Given the description of an element on the screen output the (x, y) to click on. 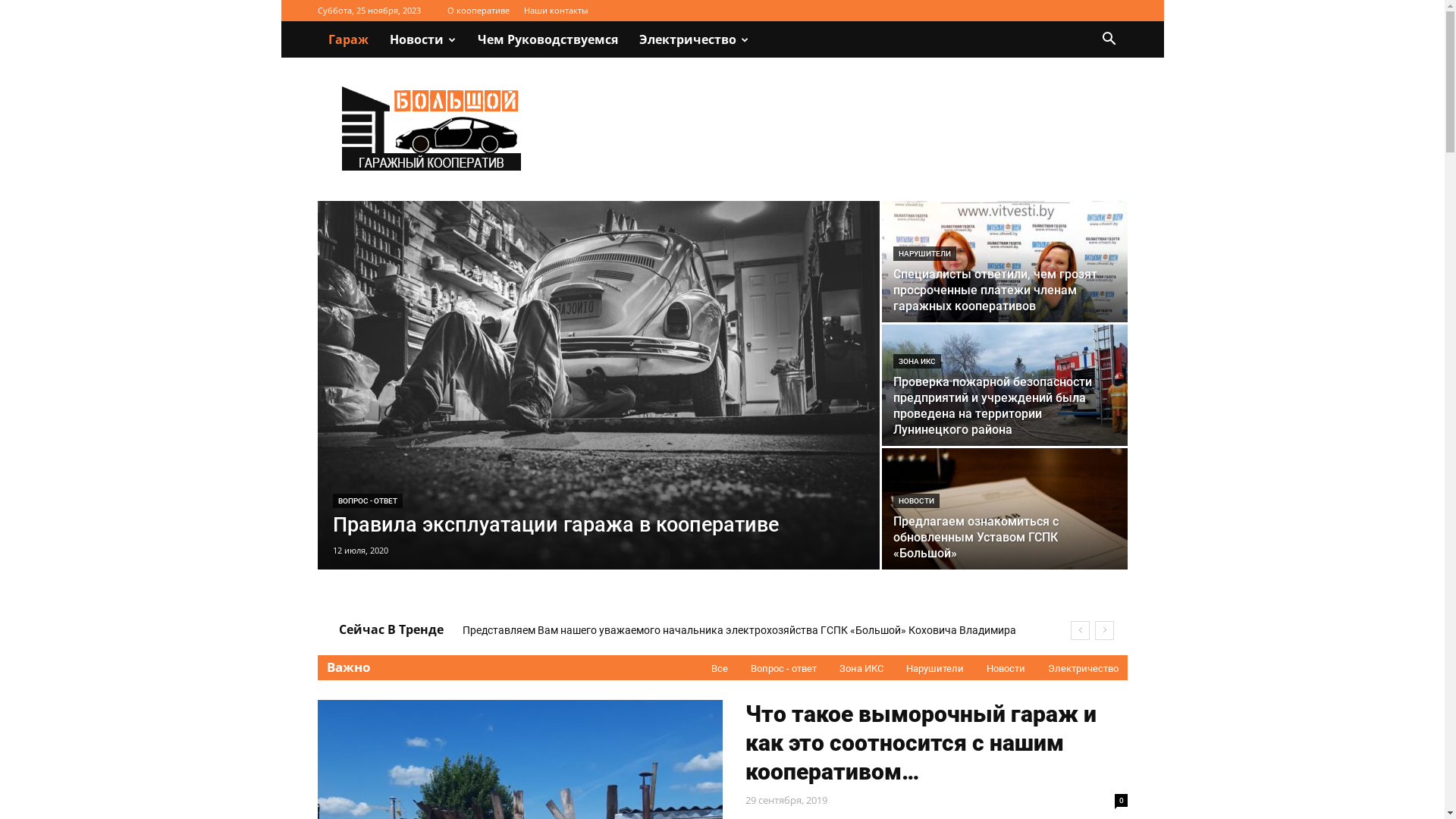
0 Element type: text (1120, 799)
